Given the description of an element on the screen output the (x, y) to click on. 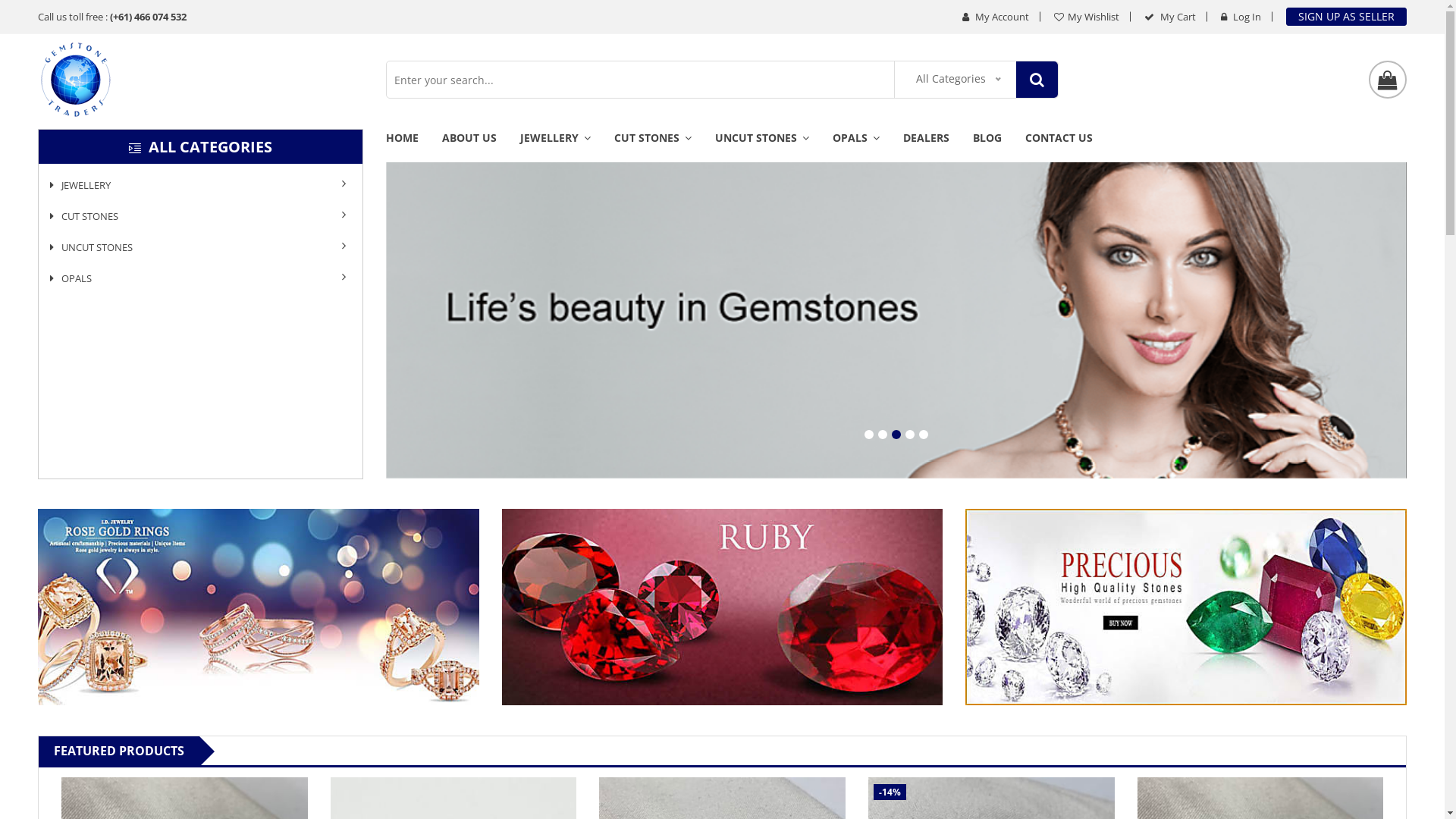
JEWELLERY Element type: text (200, 184)
CUT STONES Element type: text (652, 146)
My Cart Element type: text (1169, 16)
CUT STONES Element type: text (200, 216)
BLOG Element type: text (987, 146)
ABOUT US Element type: text (469, 146)
SIGN UP AS SELLER Element type: text (1346, 16)
DEALERS Element type: text (926, 146)
OPALS Element type: text (200, 278)
HOME Element type: text (407, 146)
UNCUT STONES Element type: text (761, 146)
Log In Element type: text (1240, 16)
CONTACT US Element type: text (1058, 146)
My Wishlist Element type: text (1086, 16)
OPALS Element type: text (856, 146)
JEWELLERY Element type: text (555, 146)
UNCUT STONES Element type: text (200, 247)
View my shopping cart Element type: hover (1387, 79)
My Account Element type: text (995, 16)
